Given the description of an element on the screen output the (x, y) to click on. 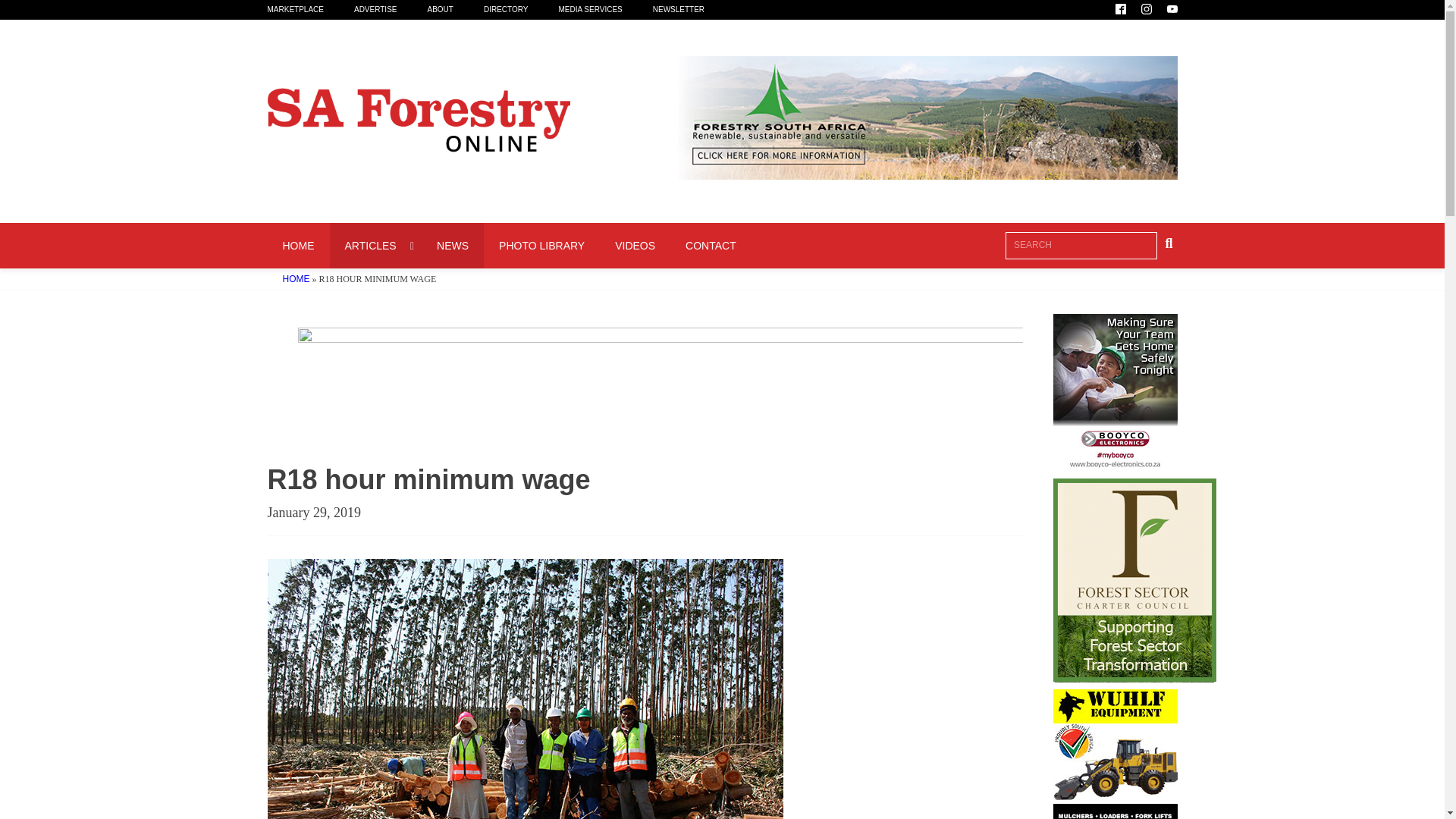
ARTICLES (375, 245)
NEWSLETTER (693, 9)
ADVERTISE (390, 9)
ABOUT (454, 9)
NEWS (452, 245)
MARKETPLACE (309, 9)
HOME (508, 245)
MEDIA SERVICES (297, 245)
DIRECTORY (604, 9)
